Given the description of an element on the screen output the (x, y) to click on. 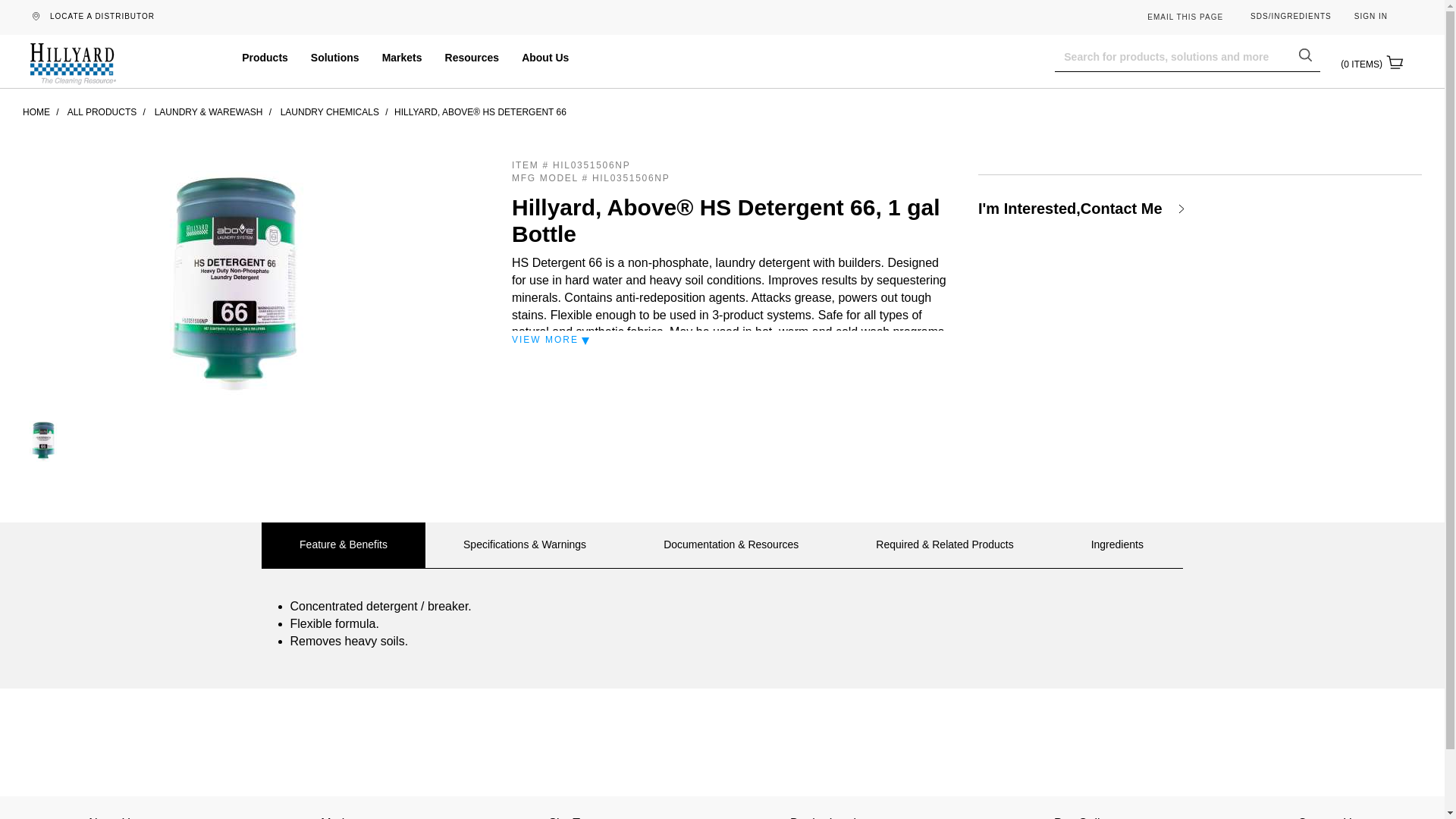
Hillyard The Cleaning Resource (73, 65)
SIGN IN (1370, 16)
EMAIL THIS PAGE (1184, 17)
LOCATE A DISTRIBUTOR (101, 16)
